Given the description of an element on the screen output the (x, y) to click on. 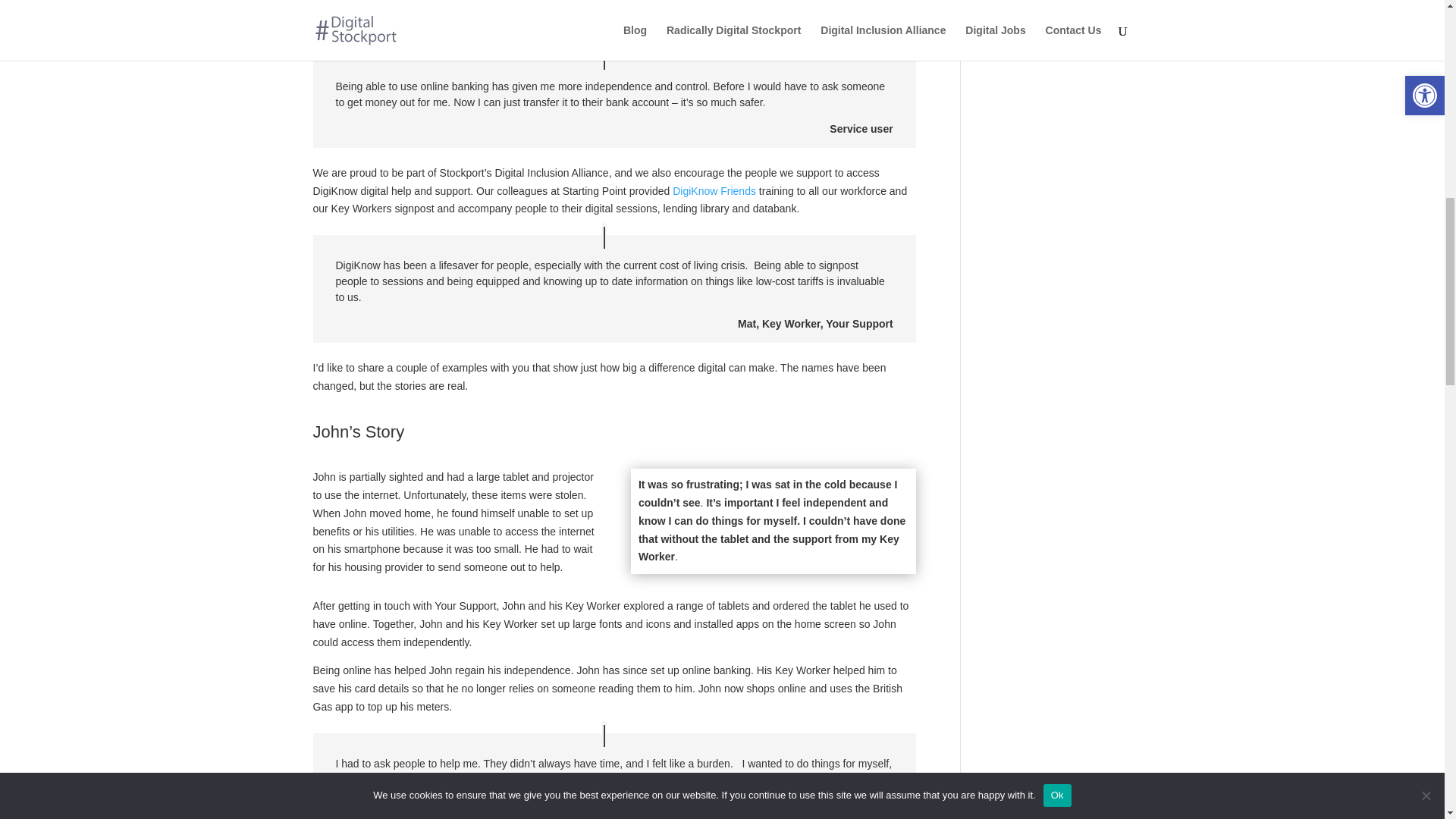
DigiKnow Friends (713, 191)
